Given the description of an element on the screen output the (x, y) to click on. 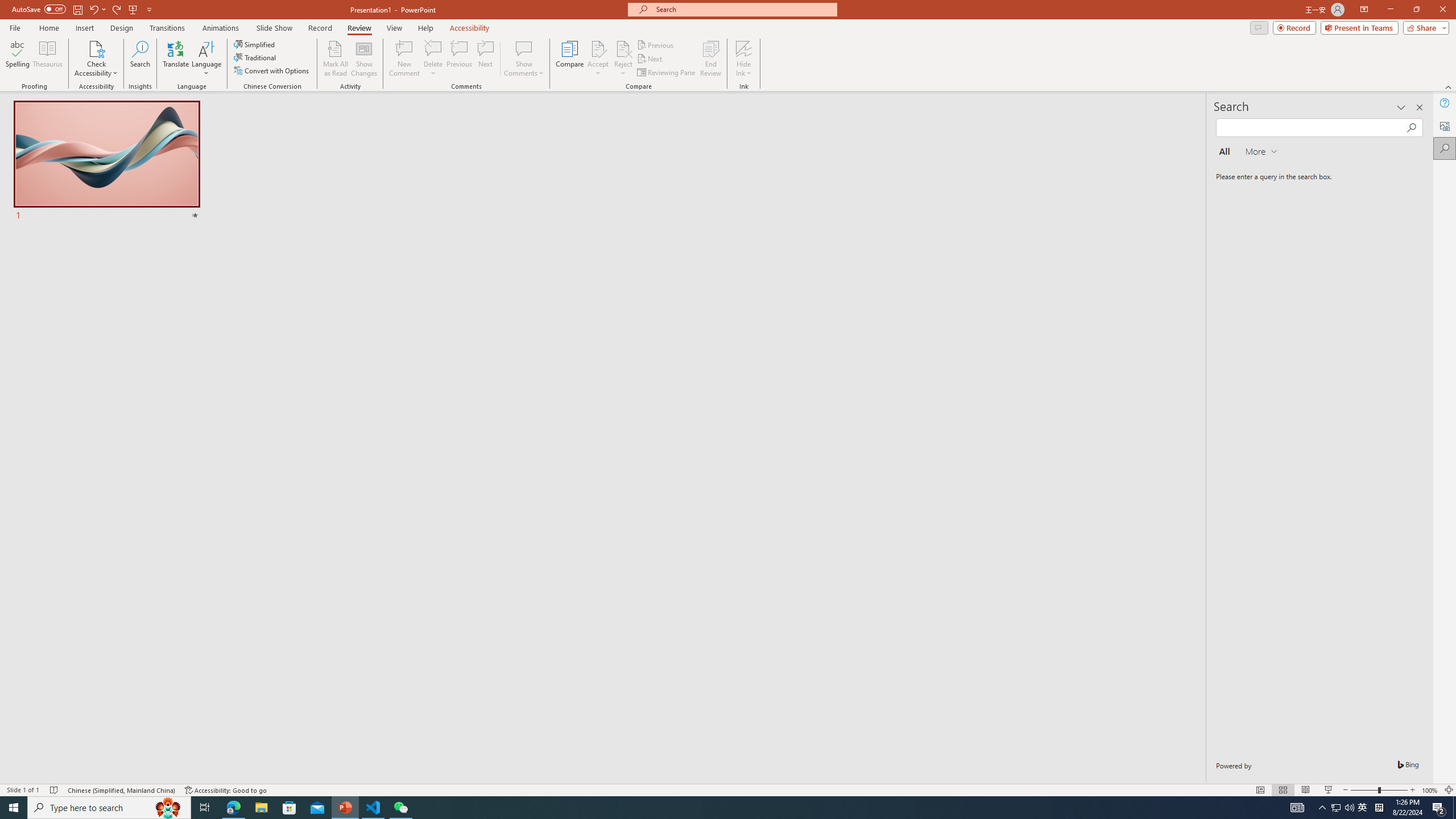
Show Changes (363, 58)
Show Comments (524, 58)
Accessibility Checker Accessibility: Good to go (226, 790)
End Review (710, 58)
Spell Check No Errors (54, 790)
Delete (432, 48)
Next (649, 58)
